Given the description of an element on the screen output the (x, y) to click on. 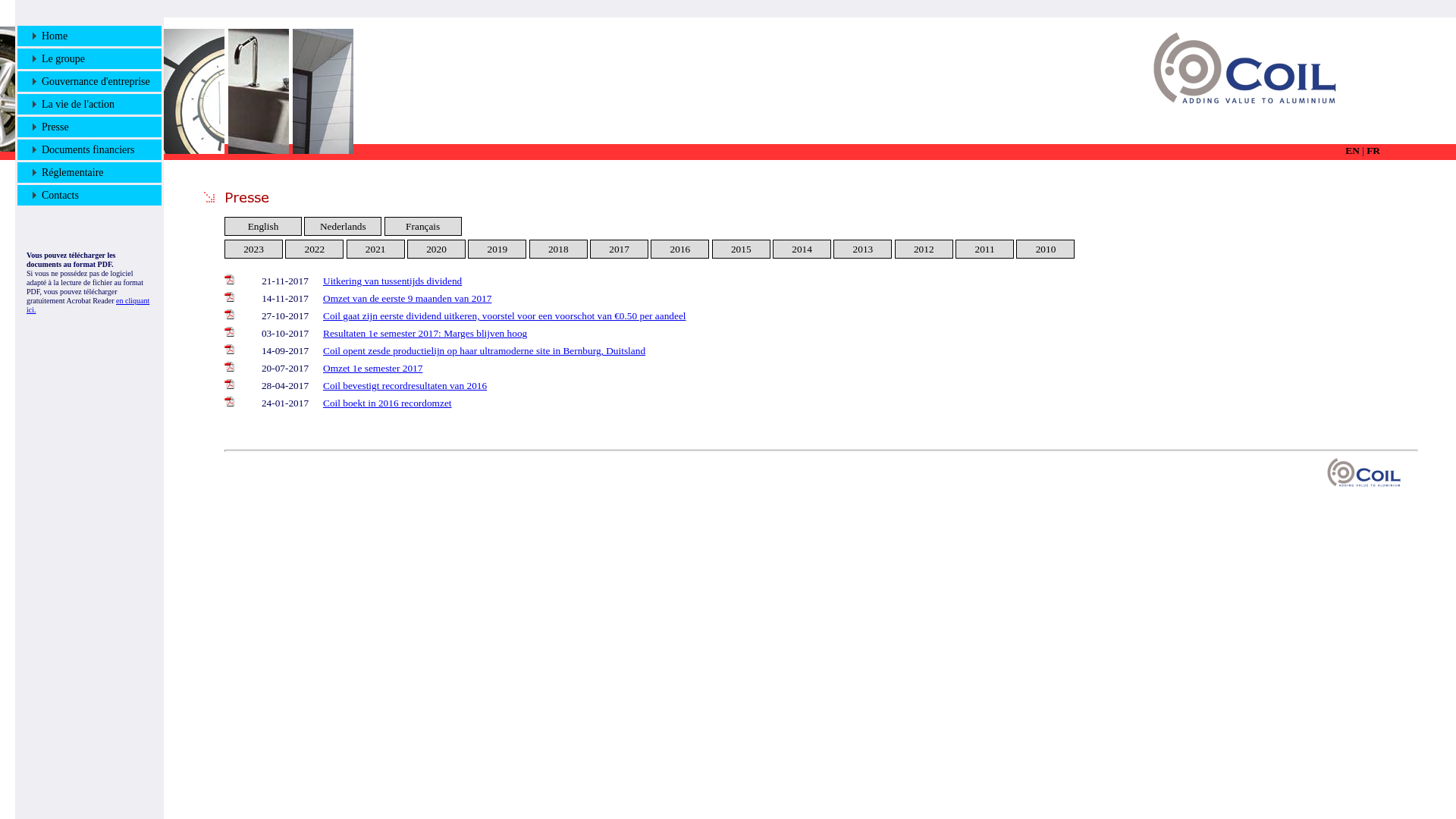
2010 Element type: text (1045, 248)
  Home Element type: text (49, 35)
2018 Element type: text (558, 248)
Omzet van de eerste 9 maanden van 2017 Element type: text (407, 298)
Nederlands Element type: text (343, 226)
EN Element type: text (1352, 150)
Resultaten 1e semester 2017: Marges blijven hoog Element type: text (425, 332)
2019 Element type: text (497, 248)
2012 Element type: text (923, 248)
English Element type: text (263, 226)
Uitkering van tussentijds dividend Element type: text (392, 280)
FR Element type: text (1373, 150)
  Le groupe Element type: text (58, 58)
2021 Element type: text (375, 248)
2013 Element type: text (863, 248)
Coil bevestigt recordresultaten van 2016 Element type: text (404, 385)
2016 Element type: text (680, 248)
2020 Element type: text (436, 248)
2014 Element type: text (801, 248)
2022 Element type: text (314, 248)
en cliquant ici. Element type: text (87, 304)
2011 Element type: text (984, 248)
  Gouvernance d'entreprise Element type: text (91, 81)
2015 Element type: text (741, 248)
  Contacts Element type: text (55, 194)
Coil boekt in 2016 recordomzet Element type: text (387, 402)
2017 Element type: text (618, 248)
  La vie de l'action Element type: text (73, 103)
  Documents financiers Element type: text (83, 149)
  Presse Element type: text (50, 126)
2023 Element type: text (253, 248)
Omzet 1e semester 2017 Element type: text (372, 367)
